Given the description of an element on the screen output the (x, y) to click on. 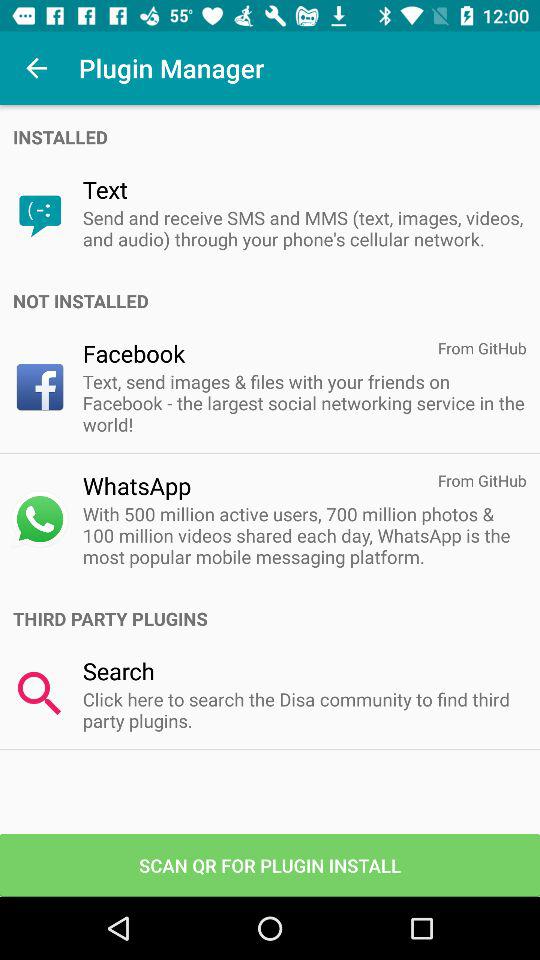
tap the click here to item (304, 709)
